Given the description of an element on the screen output the (x, y) to click on. 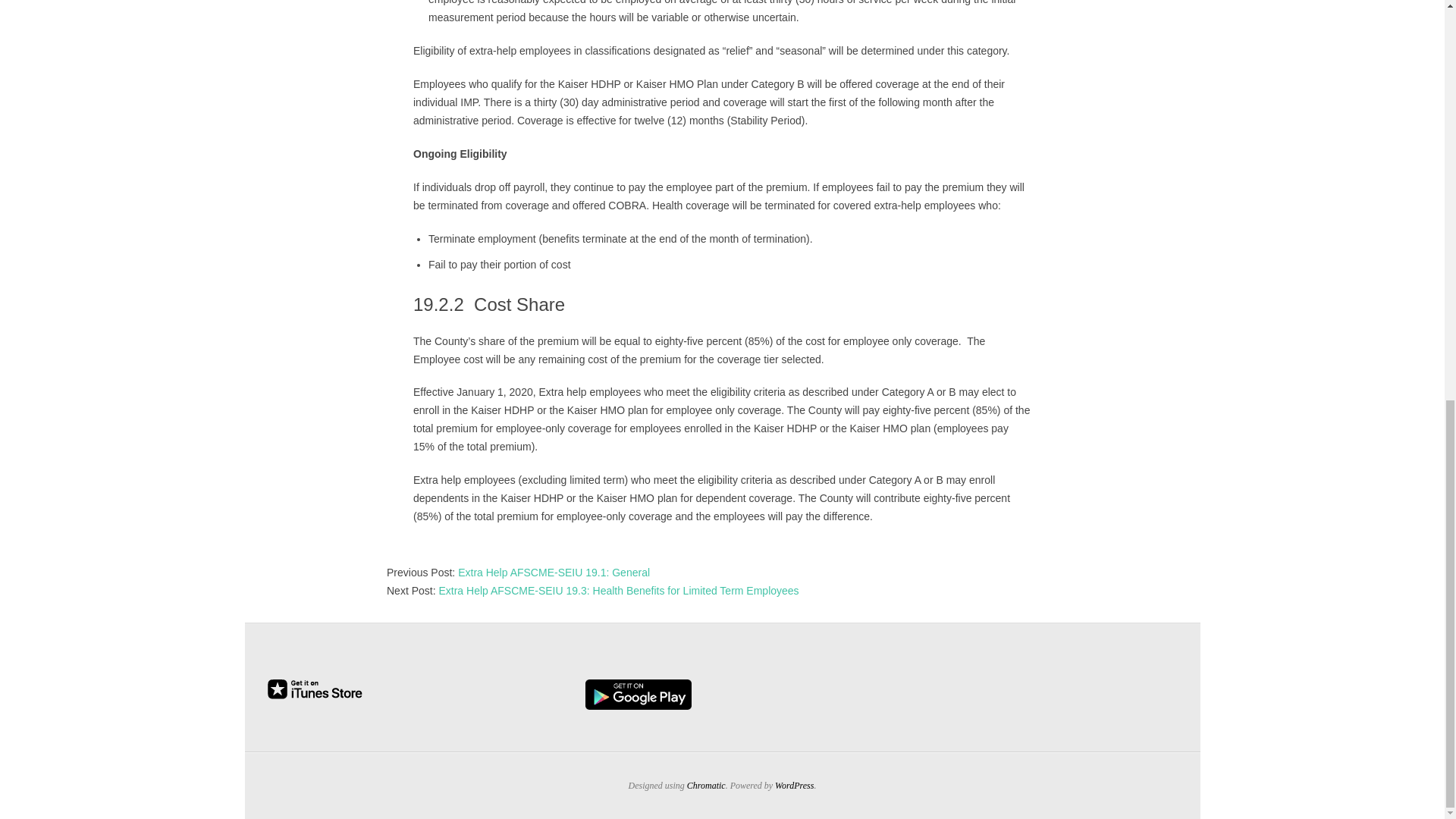
Chromatic WordPress Theme (706, 785)
State-of-the-art semantic personal publishing platform (793, 785)
